Given the description of an element on the screen output the (x, y) to click on. 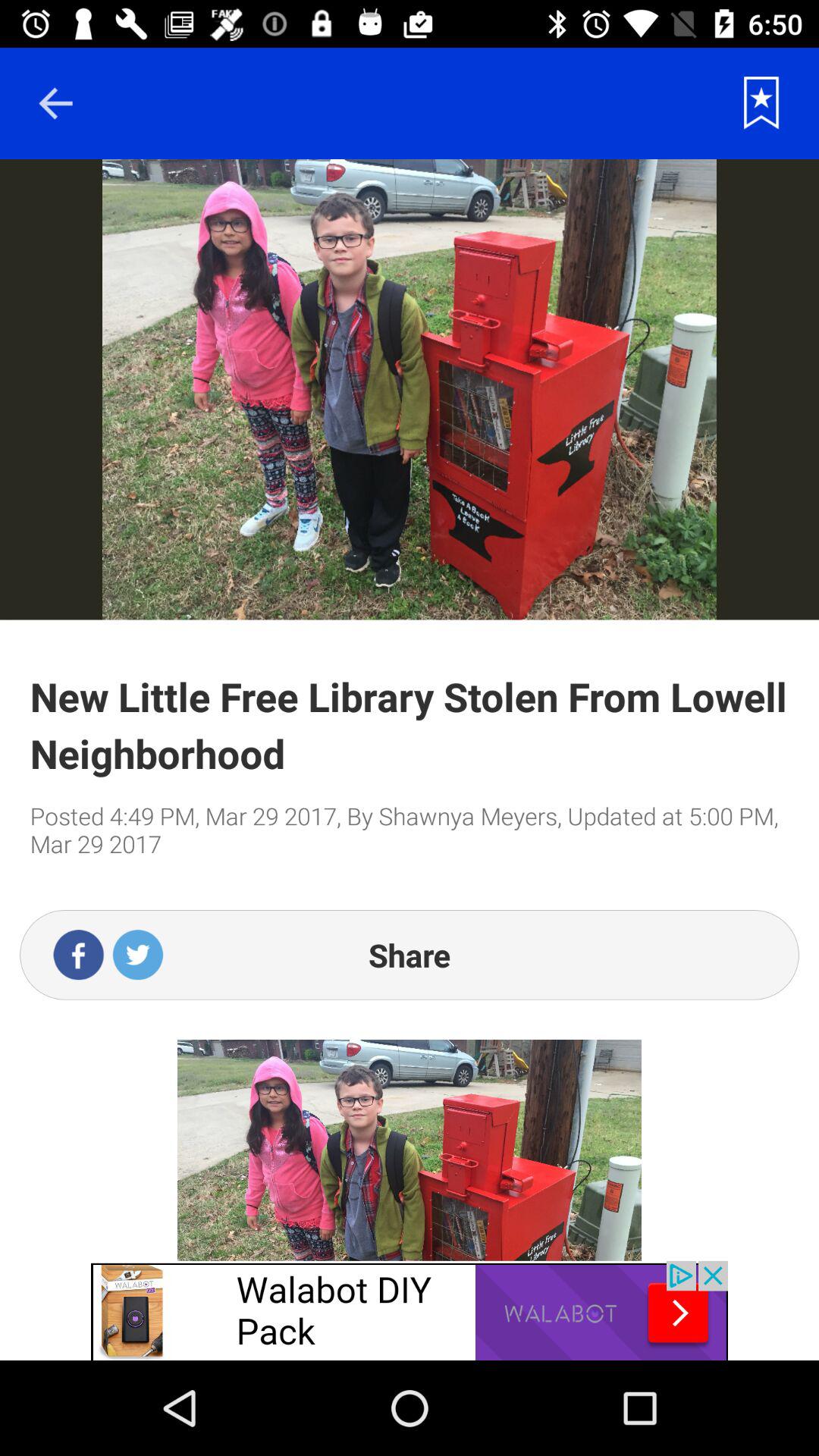
go back (55, 103)
